Given the description of an element on the screen output the (x, y) to click on. 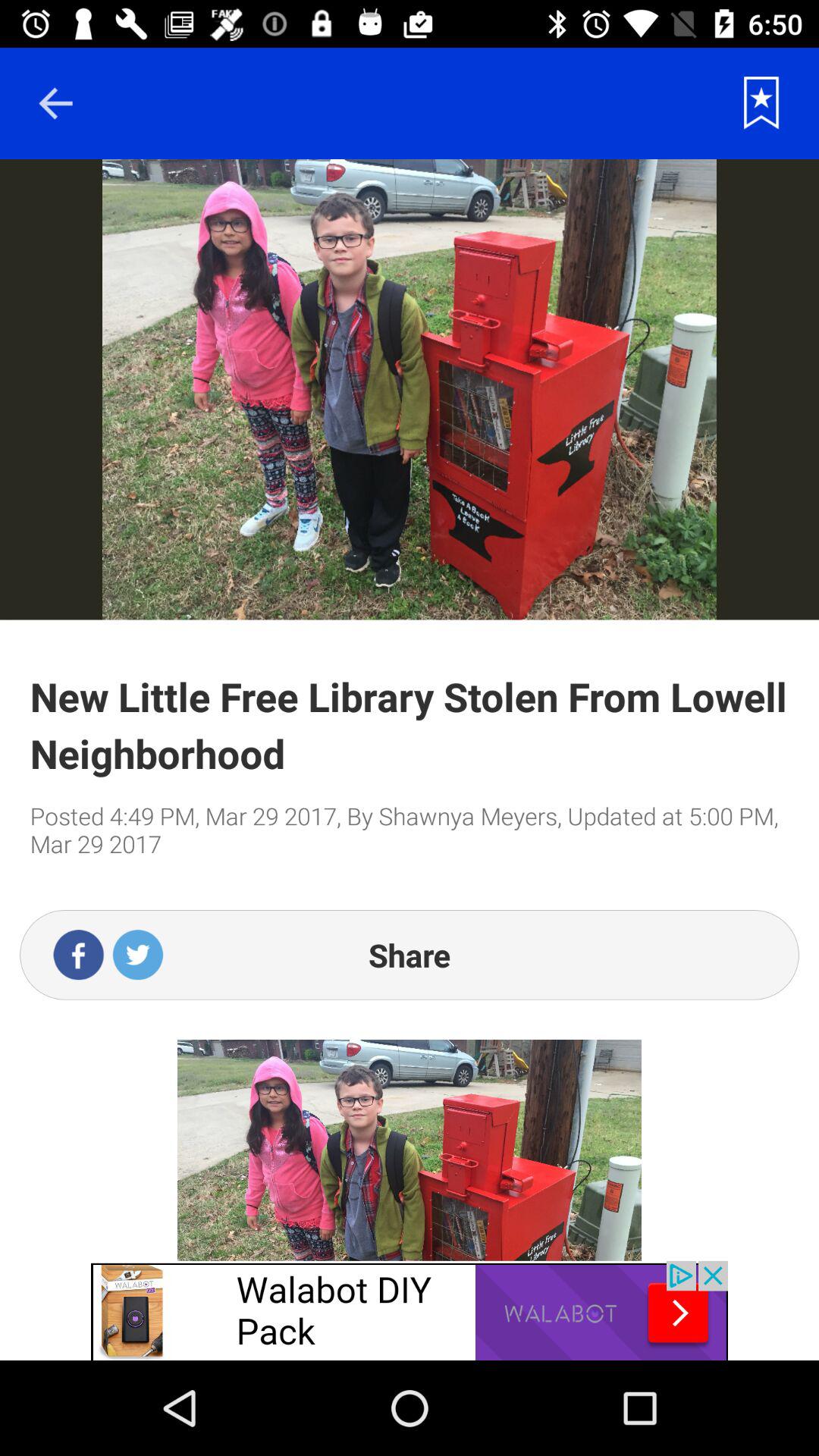
go back (55, 103)
